Given the description of an element on the screen output the (x, y) to click on. 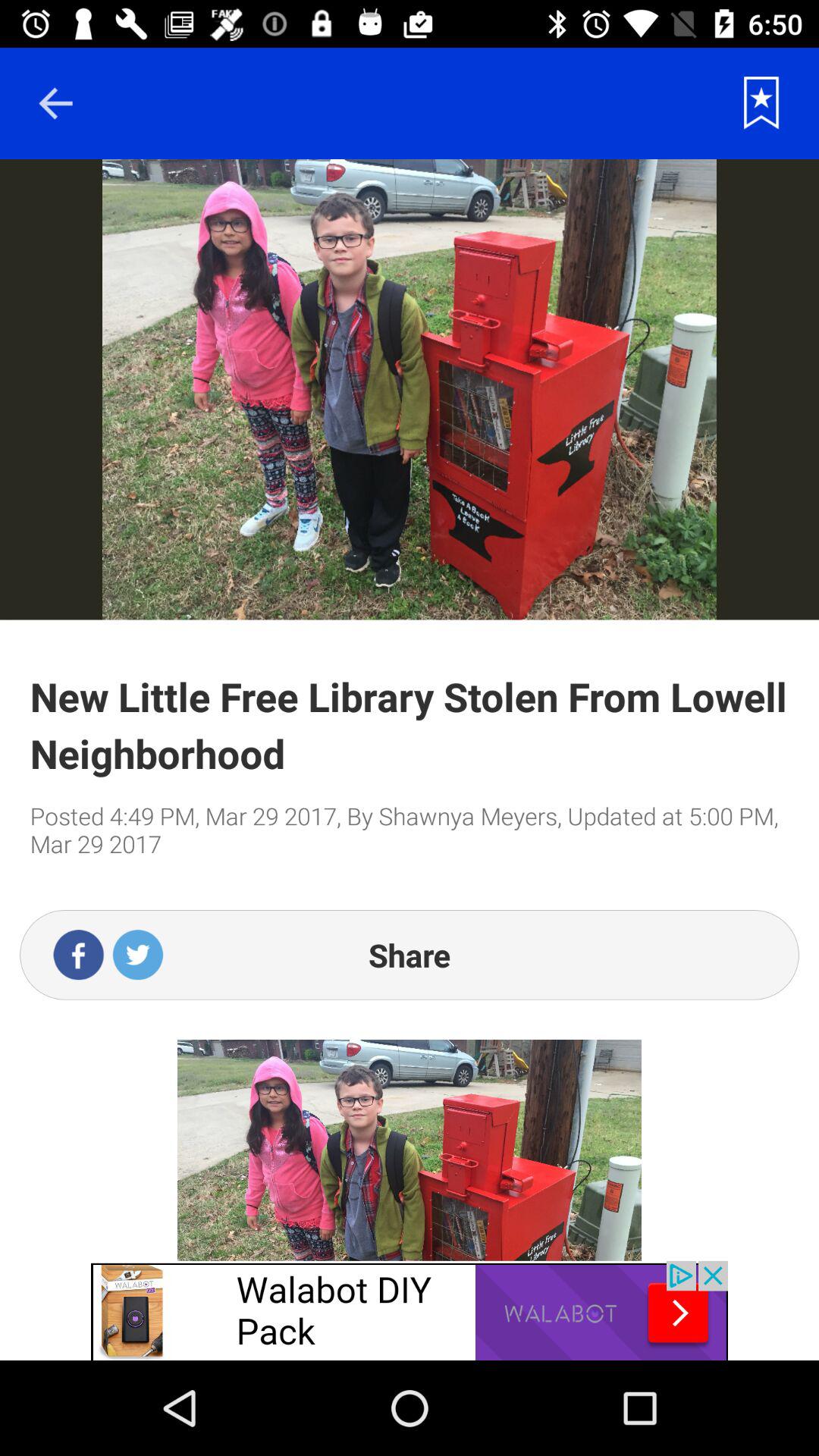
go back (55, 103)
